Given the description of an element on the screen output the (x, y) to click on. 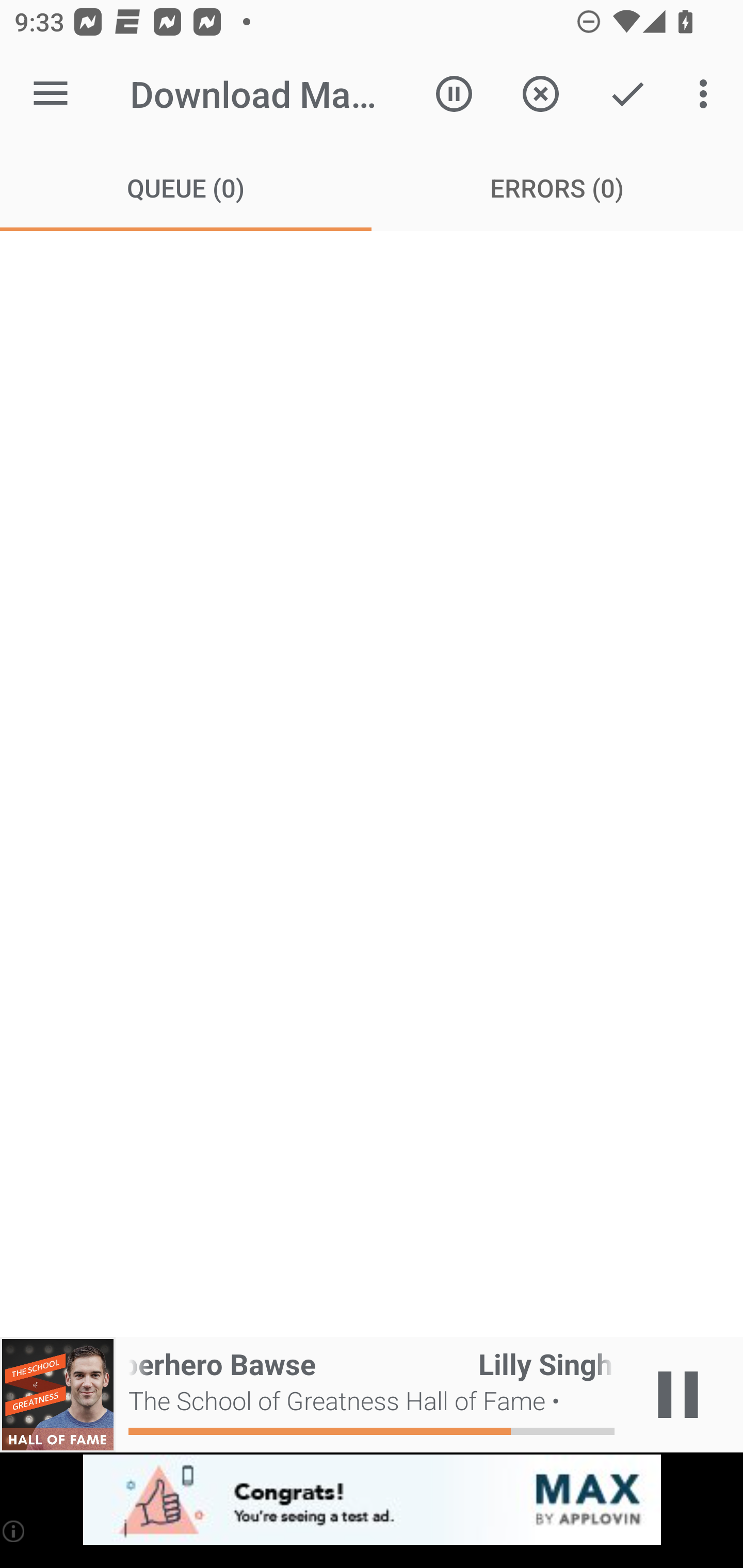
Open navigation sidebar (50, 93)
Pause downloads... (453, 93)
Cancel Downloads (540, 93)
Action Mode (626, 93)
More options (706, 93)
Errors (0) ERRORS (0) (557, 187)
Play / Pause (677, 1394)
app-monetization (371, 1500)
(i) (14, 1531)
